Given the description of an element on the screen output the (x, y) to click on. 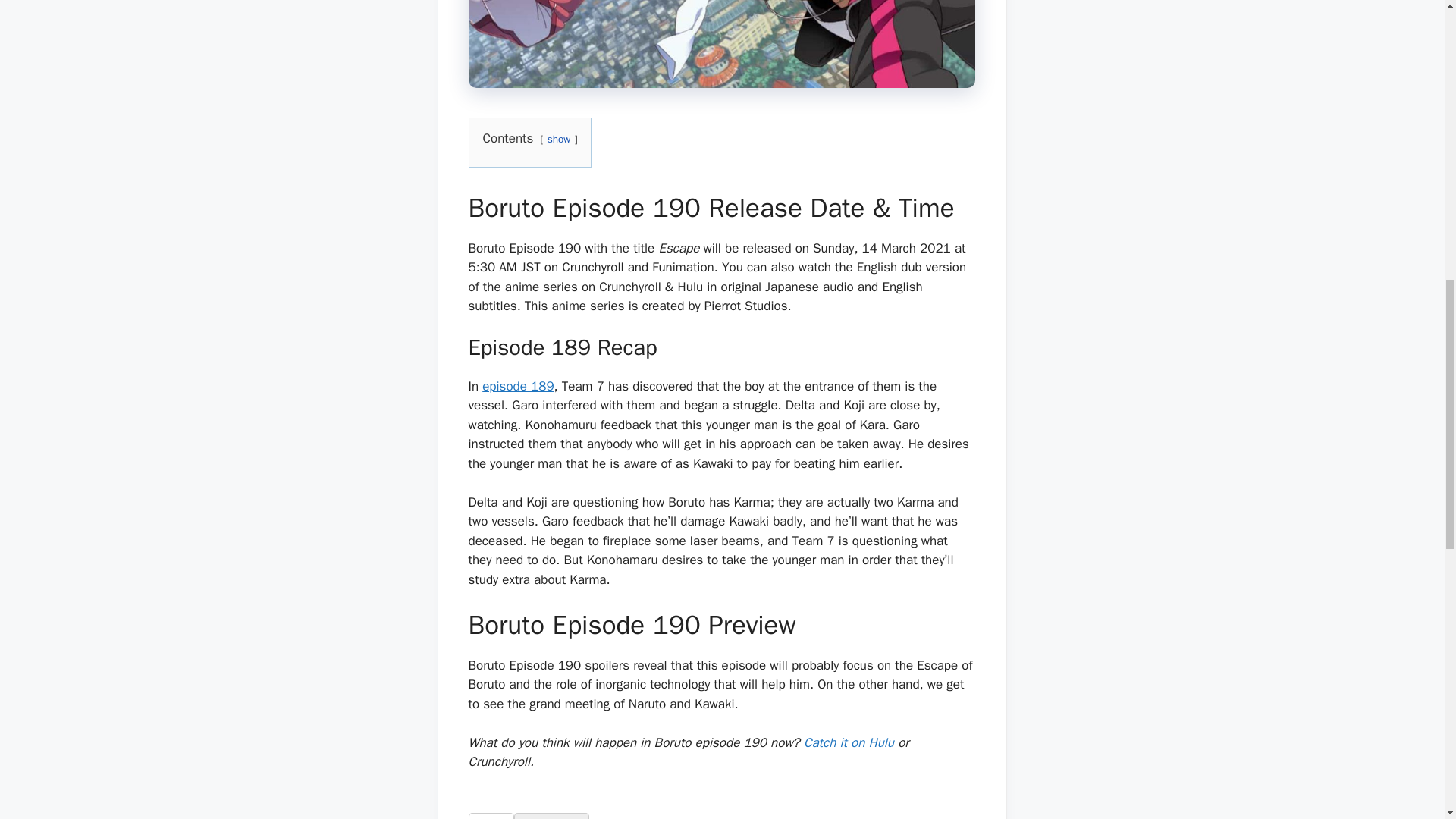
Recent Posts (551, 816)
Author (490, 816)
show (558, 138)
episode 189 (517, 385)
Catch it on Hulu (848, 742)
